Given the description of an element on the screen output the (x, y) to click on. 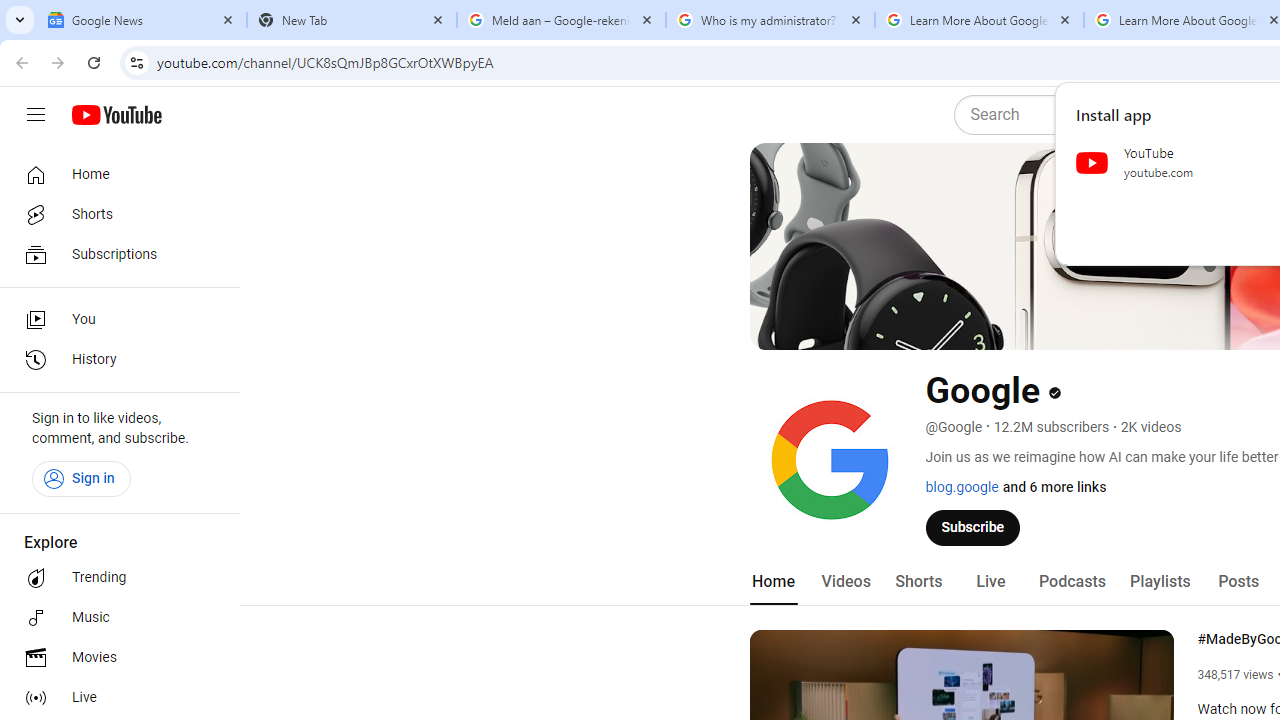
Google News (142, 20)
Live (113, 697)
History (113, 359)
Shorts (113, 214)
